Given the description of an element on the screen output the (x, y) to click on. 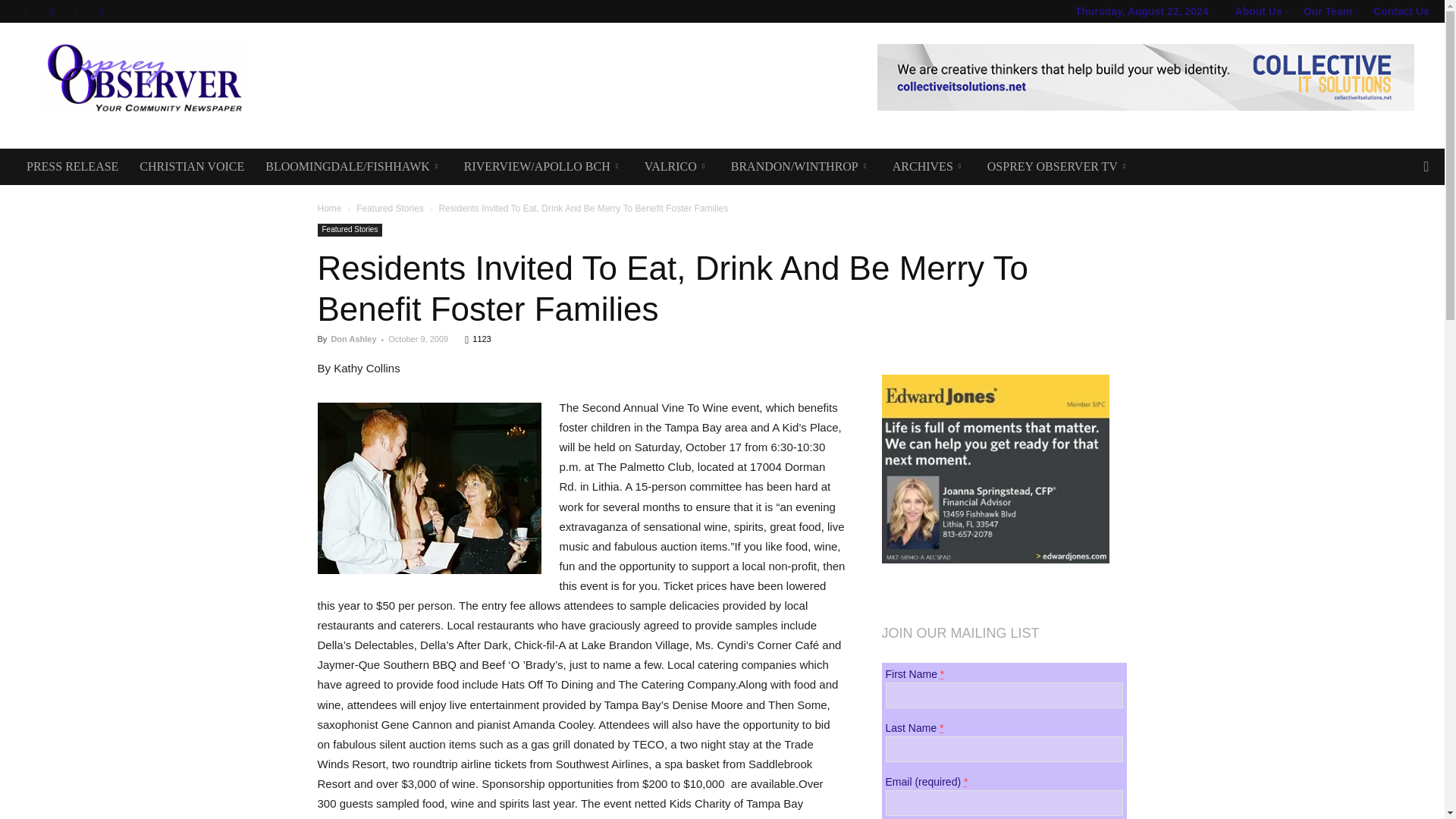
Our Team (1330, 10)
Twitter (76, 11)
About Us (1261, 10)
Youtube (101, 11)
View all posts in Featured Stories (389, 208)
Facebook (25, 11)
Instagram (51, 11)
